Given the description of an element on the screen output the (x, y) to click on. 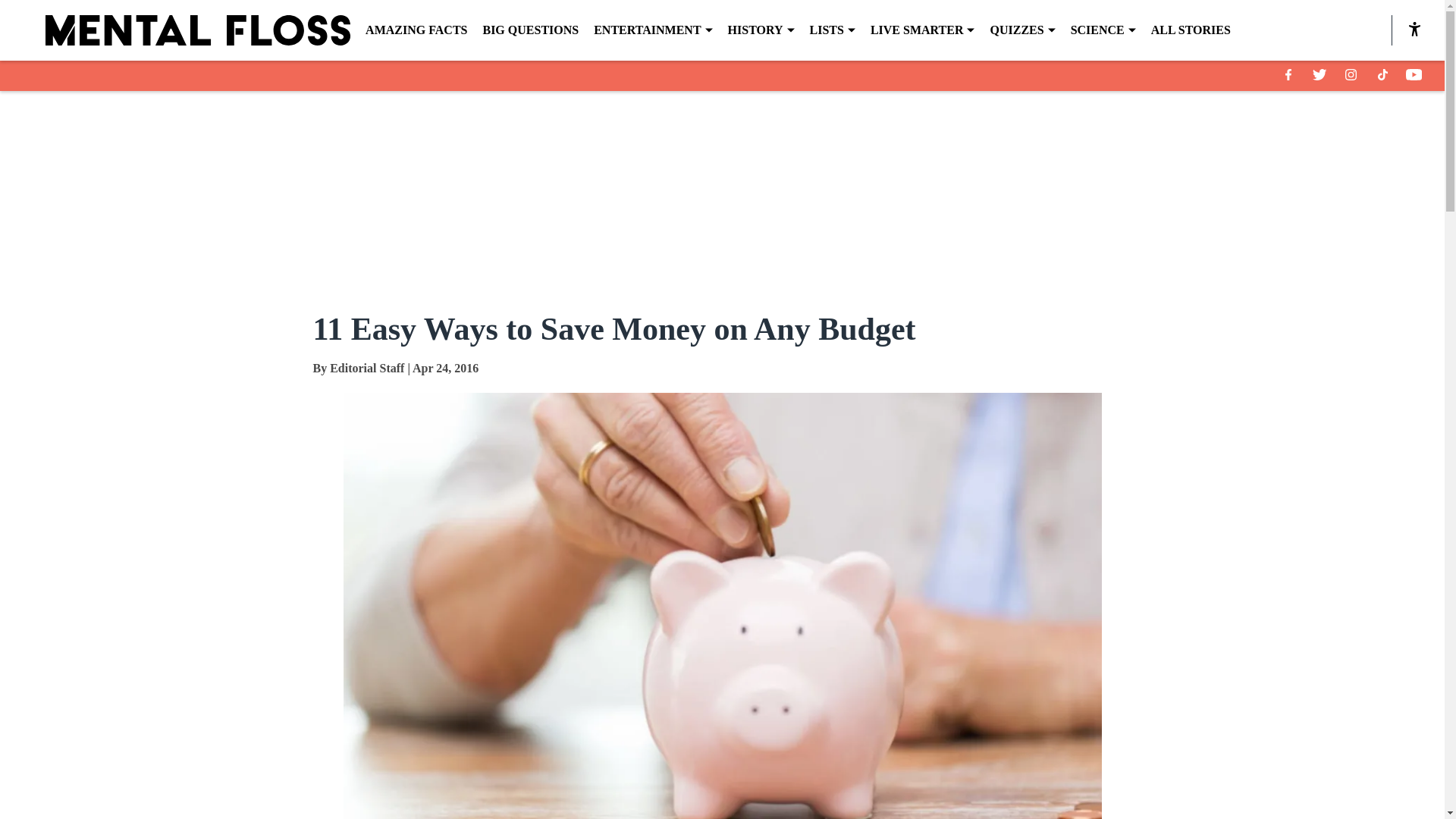
AMAZING FACTS (416, 30)
ALL STORIES (1190, 30)
BIG QUESTIONS (529, 30)
